Given the description of an element on the screen output the (x, y) to click on. 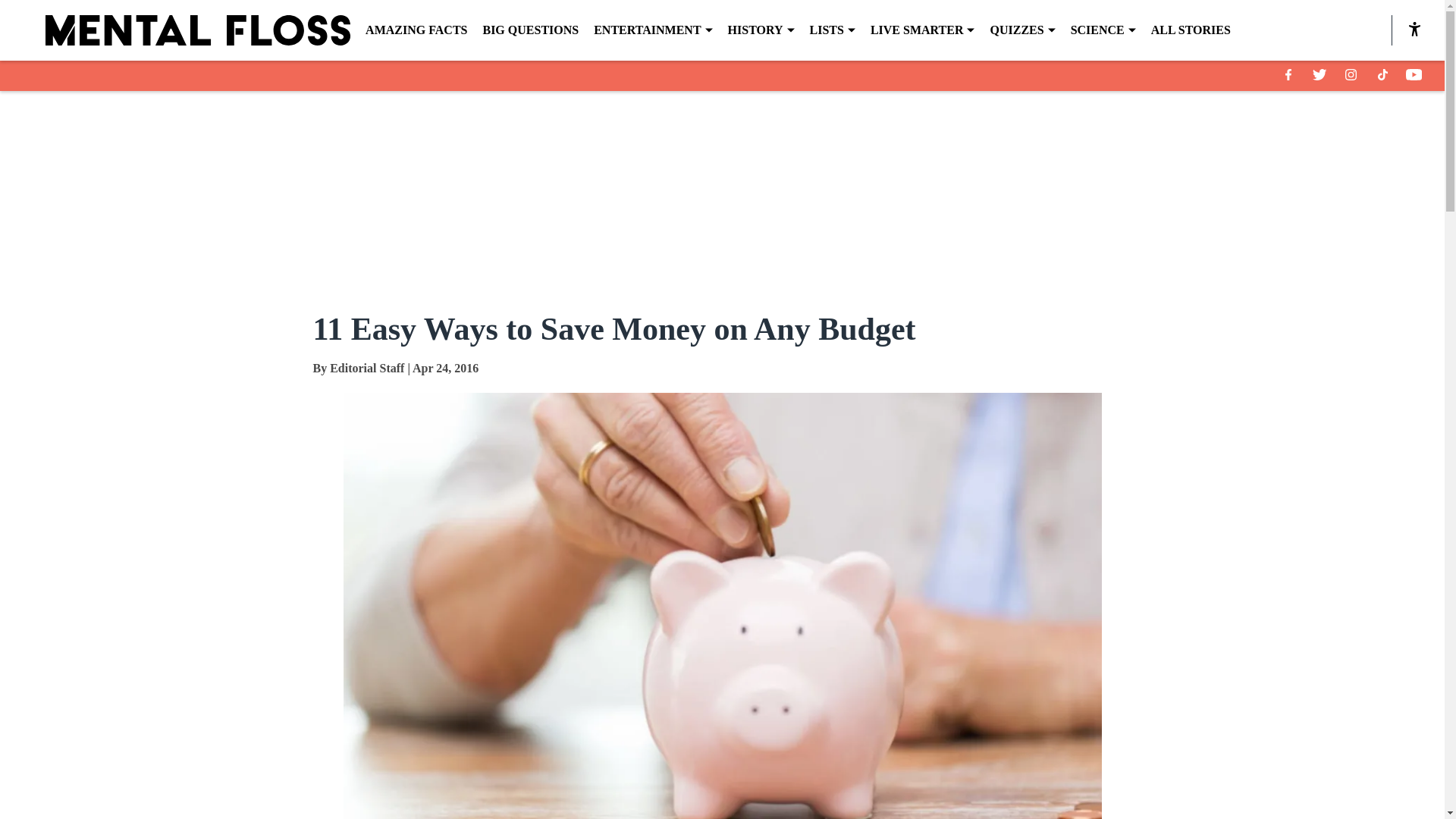
AMAZING FACTS (416, 30)
ALL STORIES (1190, 30)
BIG QUESTIONS (529, 30)
